Given the description of an element on the screen output the (x, y) to click on. 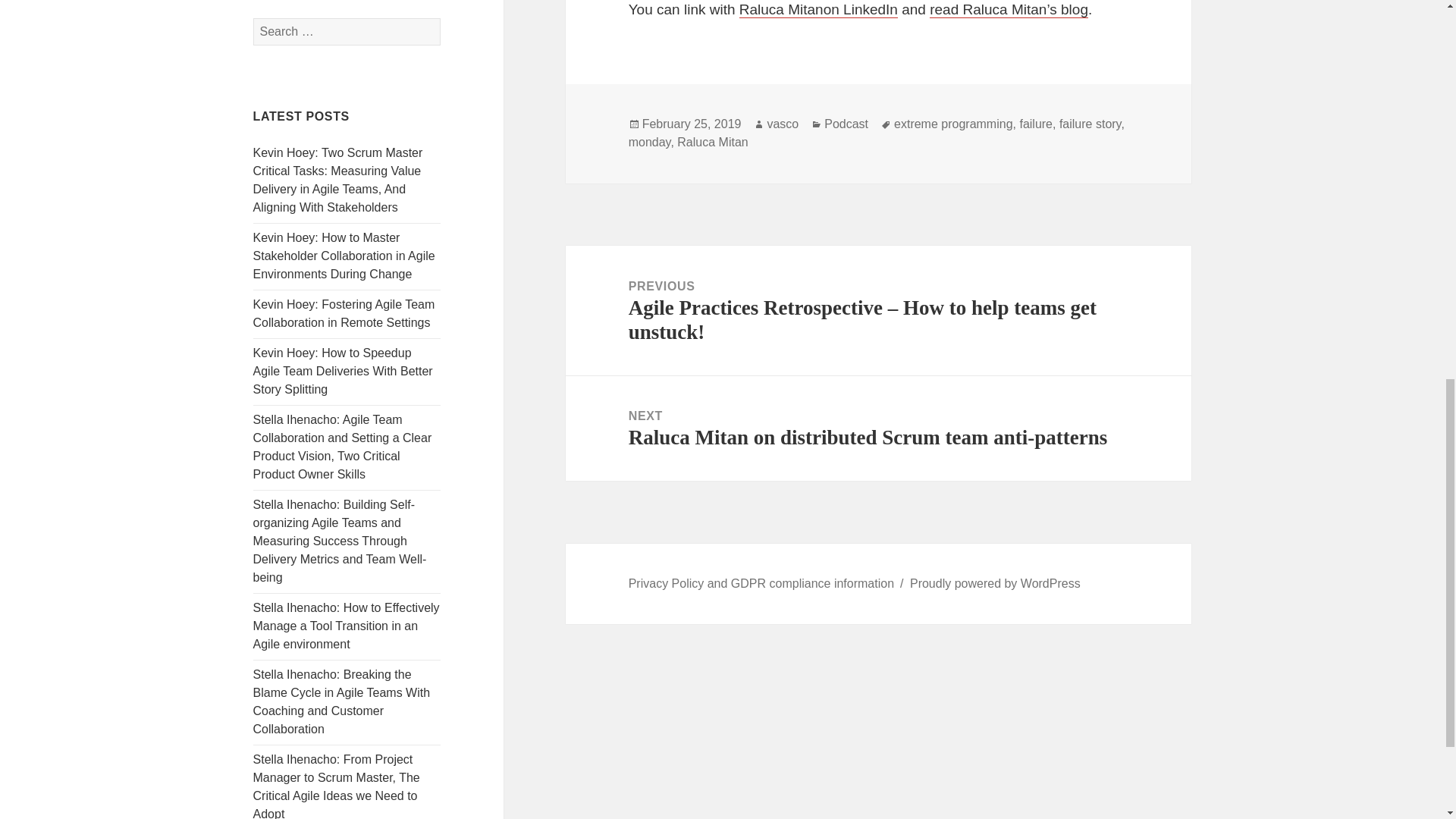
vasco (782, 124)
Podcast (845, 124)
failure story (1090, 124)
Raluca Mitanon LinkedIn (818, 9)
failure (1035, 124)
Privacy Policy and GDPR compliance information (760, 583)
February 25, 2019 (691, 124)
